Given the description of an element on the screen output the (x, y) to click on. 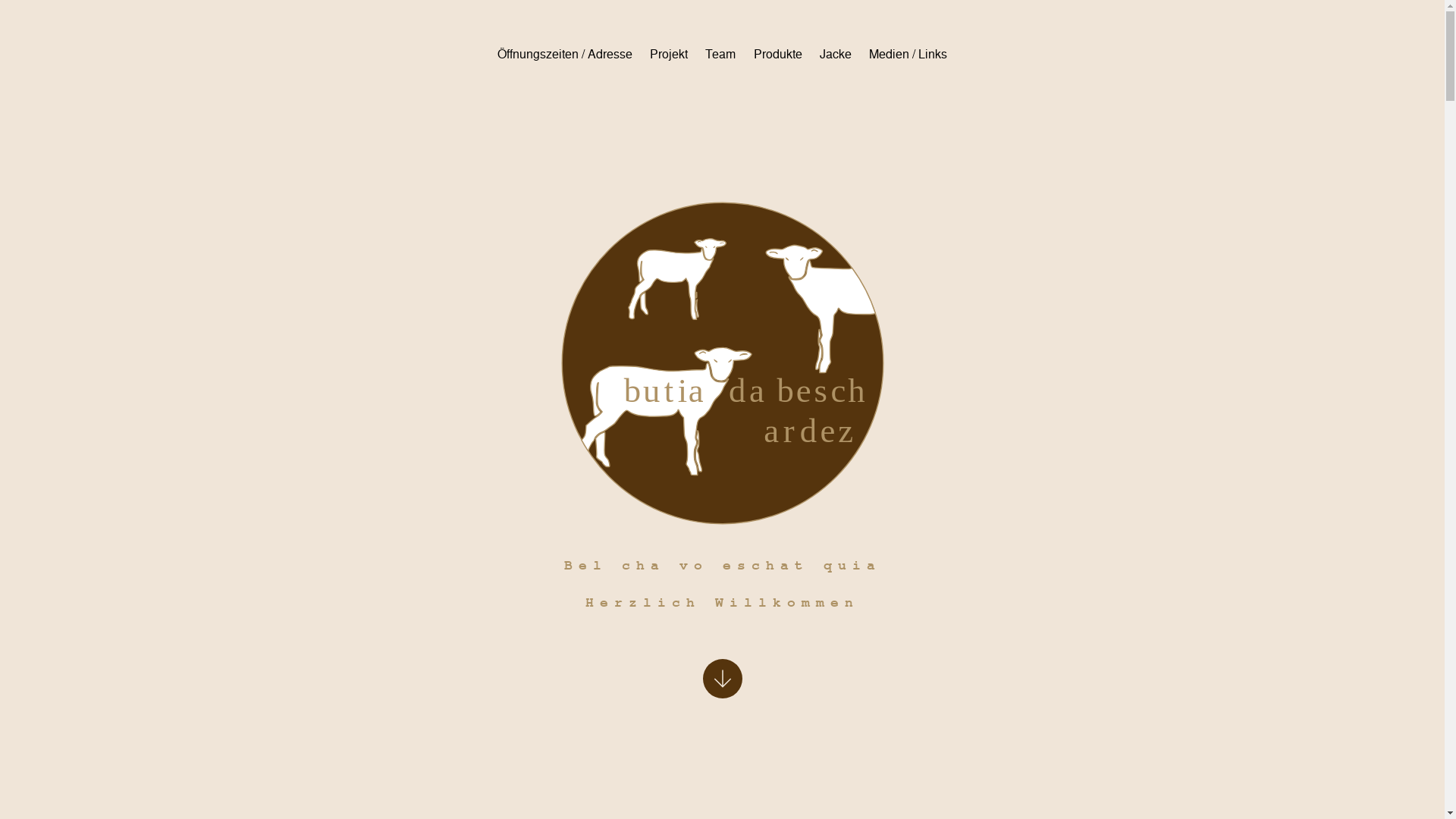
butiadabesch.ch_logo_main Element type: hover (722, 363)
Produkte Element type: text (777, 53)
Projekt Element type: text (669, 53)
Jacke Element type: text (835, 53)
Team Element type: text (720, 53)
Medien / Links Element type: text (907, 53)
